Given the description of an element on the screen output the (x, y) to click on. 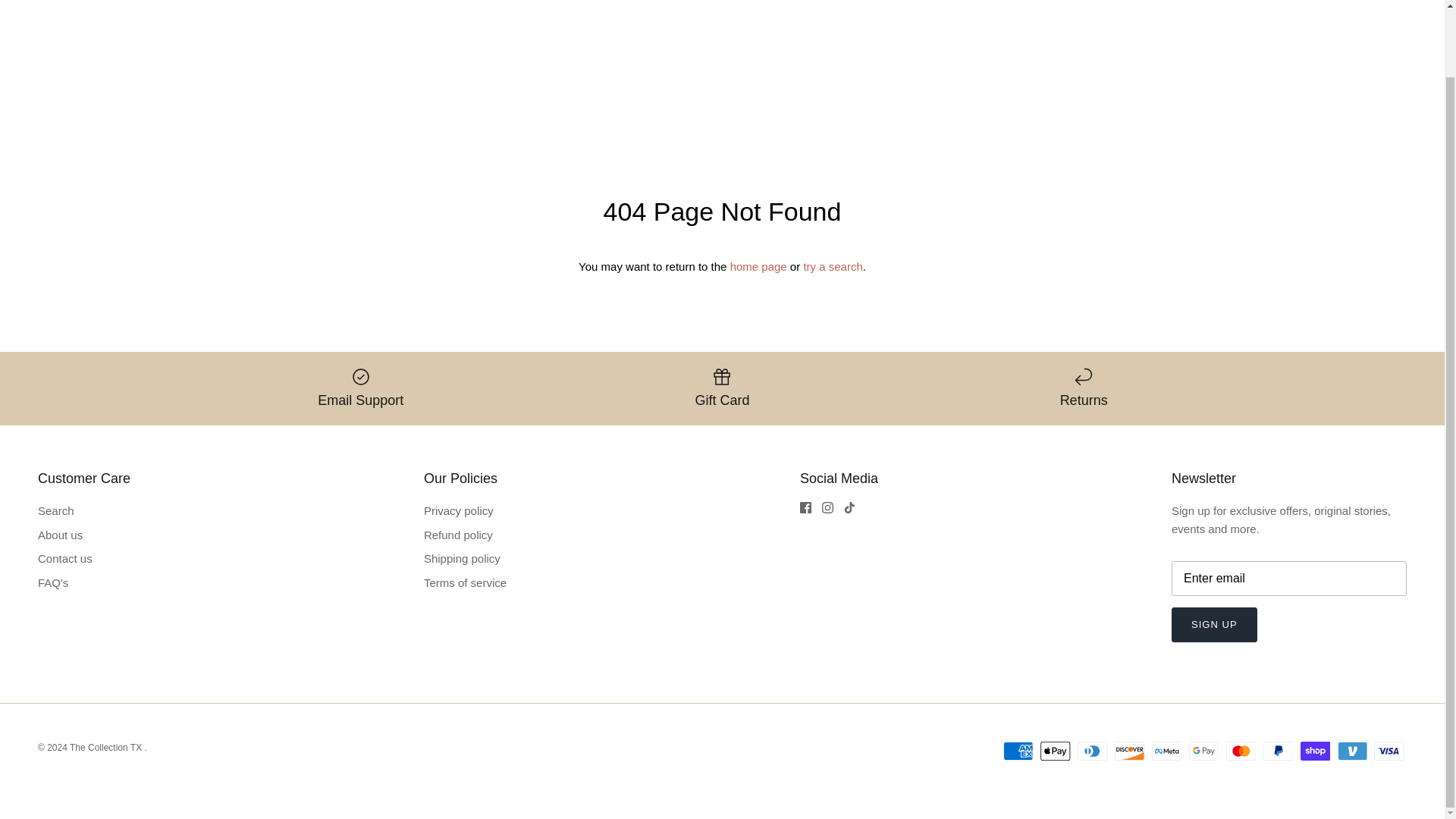
Diners Club (1092, 751)
Facebook (804, 507)
Mastercard (1240, 751)
Instagram (827, 507)
Venmo (1352, 751)
Meta Pay (1166, 751)
Google Pay (1203, 751)
Discover (1129, 751)
Shop Pay (1315, 751)
Apple Pay (1055, 751)
